Given the description of an element on the screen output the (x, y) to click on. 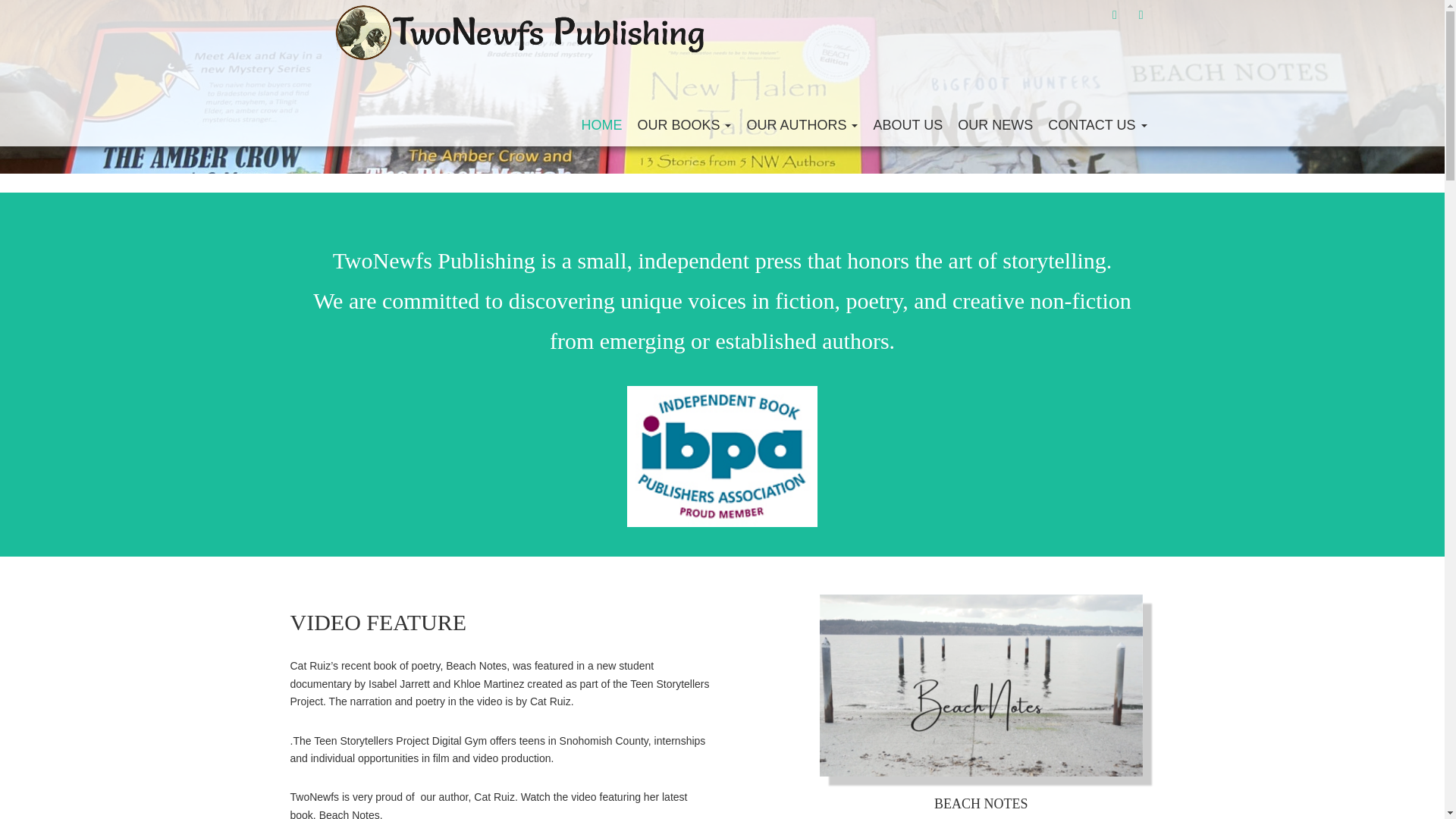
FACEBOOK (1114, 14)
OUR NEWS (995, 124)
CONTACT US (1097, 124)
OUR AUTHORS (801, 124)
HOME (600, 124)
TWITTER (1141, 14)
Twitter (1141, 14)
OUR BOOKS (683, 124)
Facebook (1114, 14)
ABOUT US (907, 124)
